Given the description of an element on the screen output the (x, y) to click on. 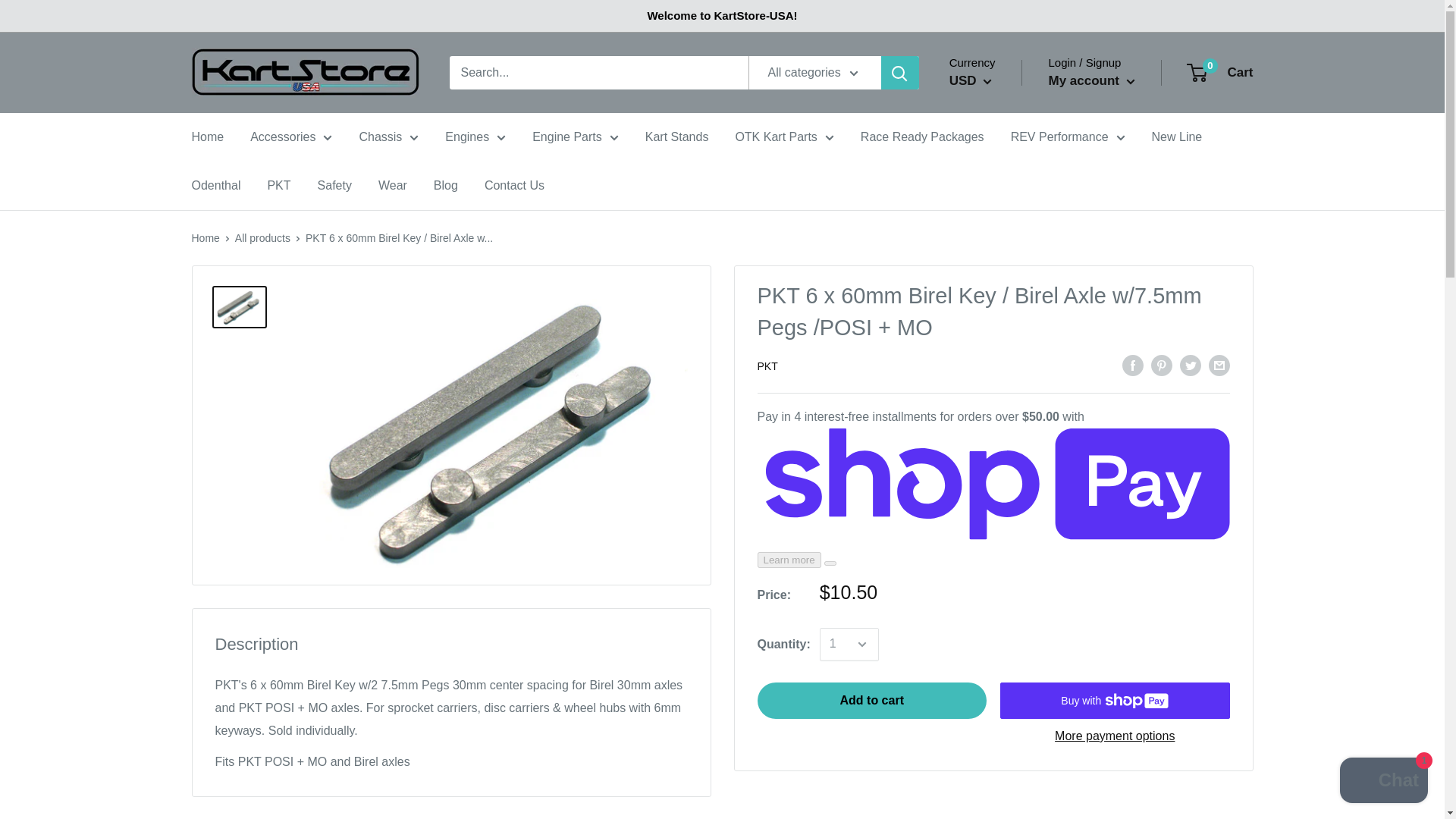
Shopify online store chat (1383, 781)
